Given the description of an element on the screen output the (x, y) to click on. 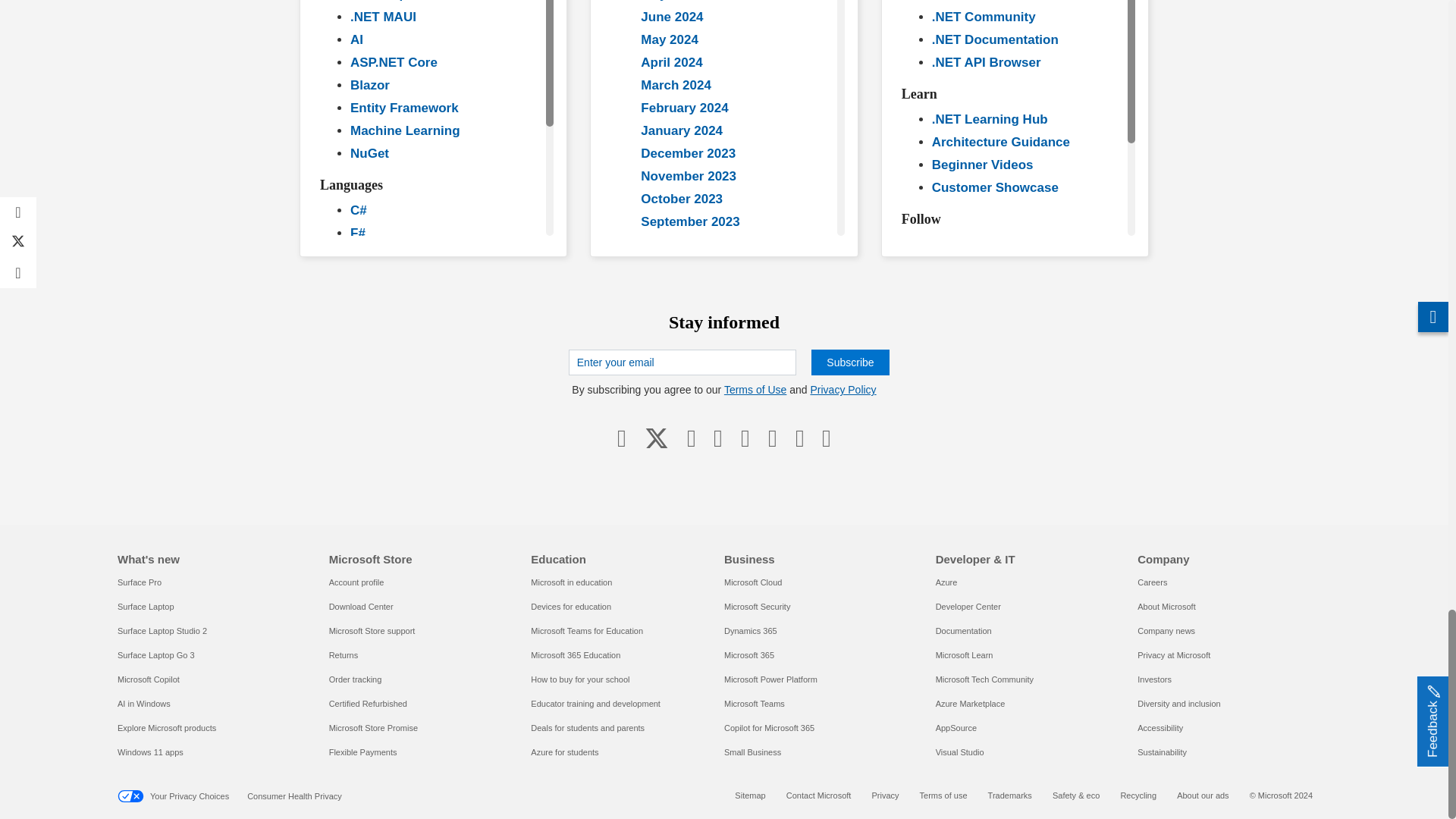
RSS Feed (826, 437)
GitHub (772, 437)
Stackoverflow (799, 437)
youtube (718, 437)
twitch (745, 437)
twitter (656, 437)
Subscribe (849, 362)
facebook (621, 437)
linkedin (691, 437)
